Given the description of an element on the screen output the (x, y) to click on. 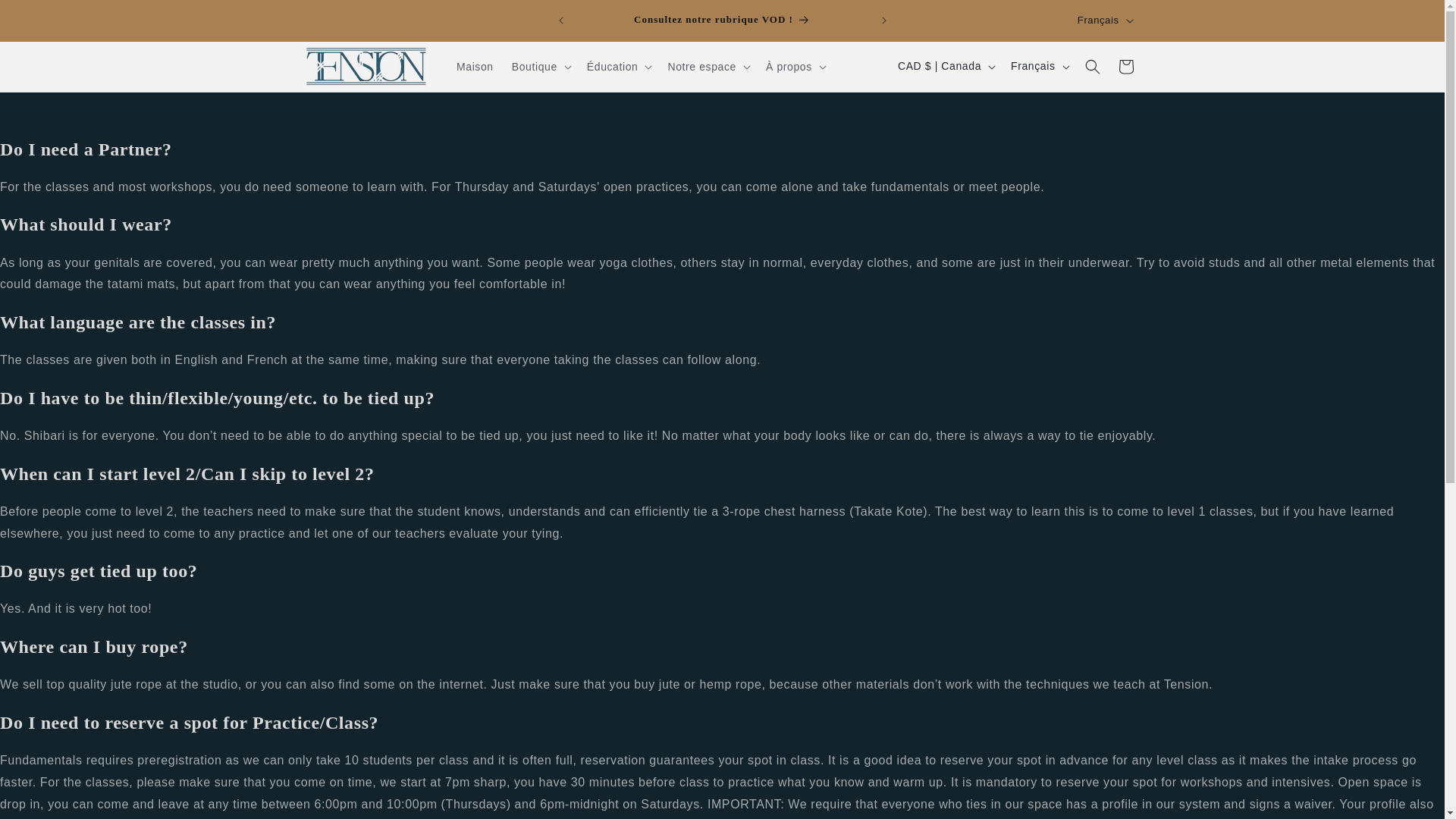
Consultez notre rubrique VOD ! (722, 20)
Ignorer et passer au contenu (45, 17)
